Given the description of an element on the screen output the (x, y) to click on. 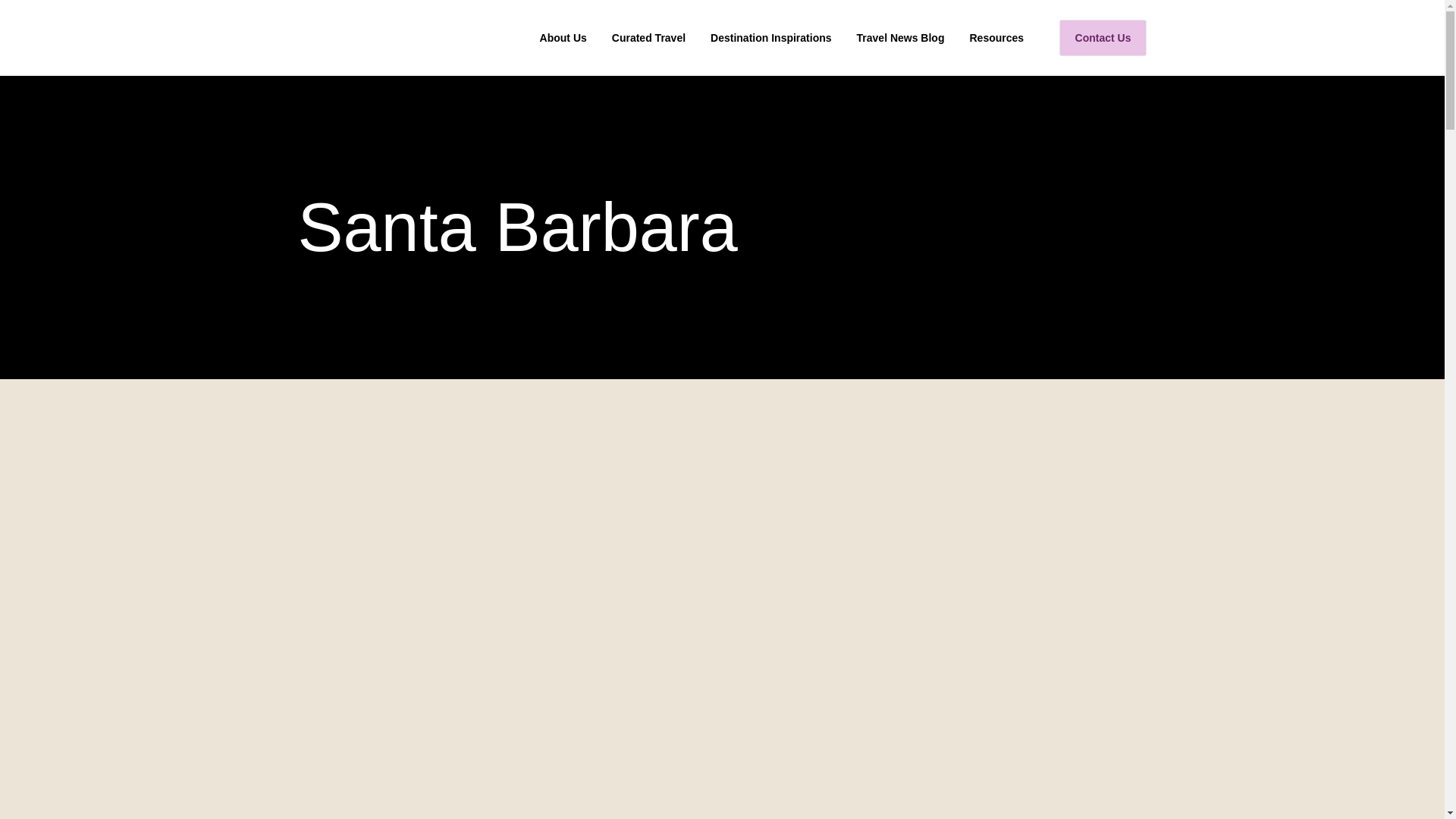
Curated Travel (648, 37)
Contact Us (1103, 37)
Destination Inspirations (770, 37)
About Us (563, 37)
Resources (996, 37)
Travel News Blog (900, 37)
